Given the description of an element on the screen output the (x, y) to click on. 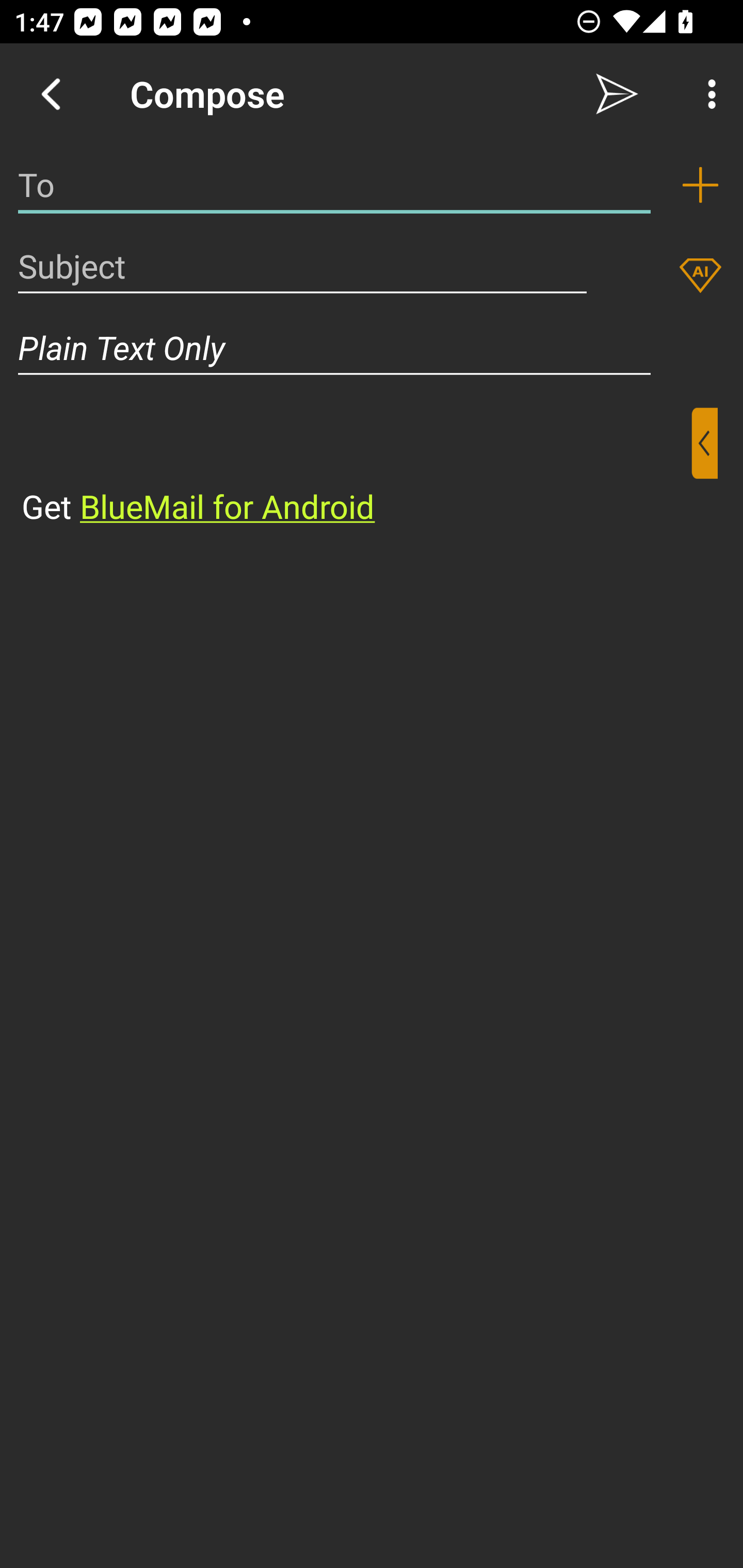
Navigate up (50, 93)
Send (616, 93)
More Options (706, 93)
To (334, 184)
Add recipient (To) (699, 184)
Subject (302, 266)
Plain Text Only (371, 347)


⁣Get BlueMail for Android ​ (355, 468)
